Given the description of an element on the screen output the (x, y) to click on. 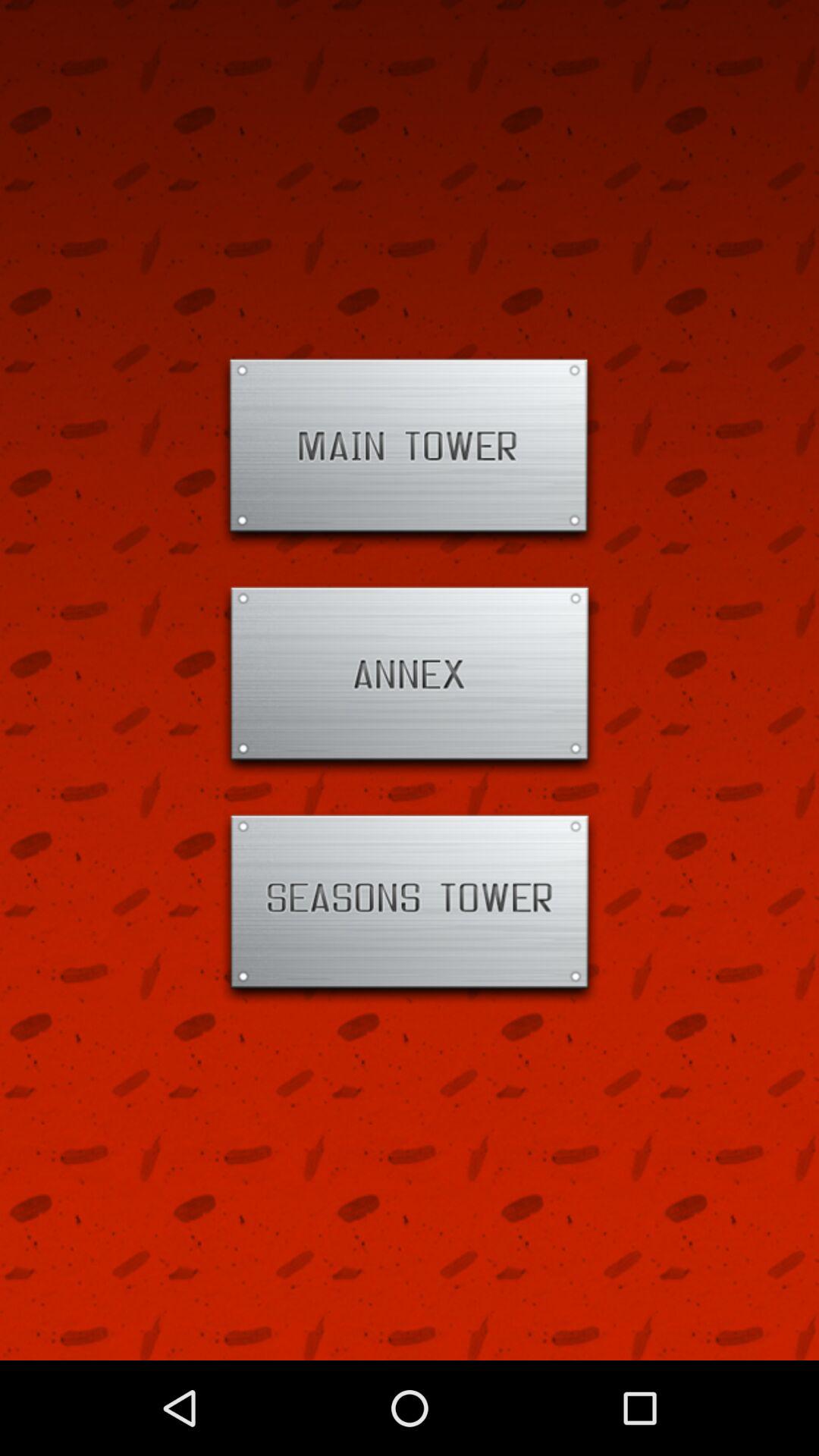
open page (409, 452)
